Given the description of an element on the screen output the (x, y) to click on. 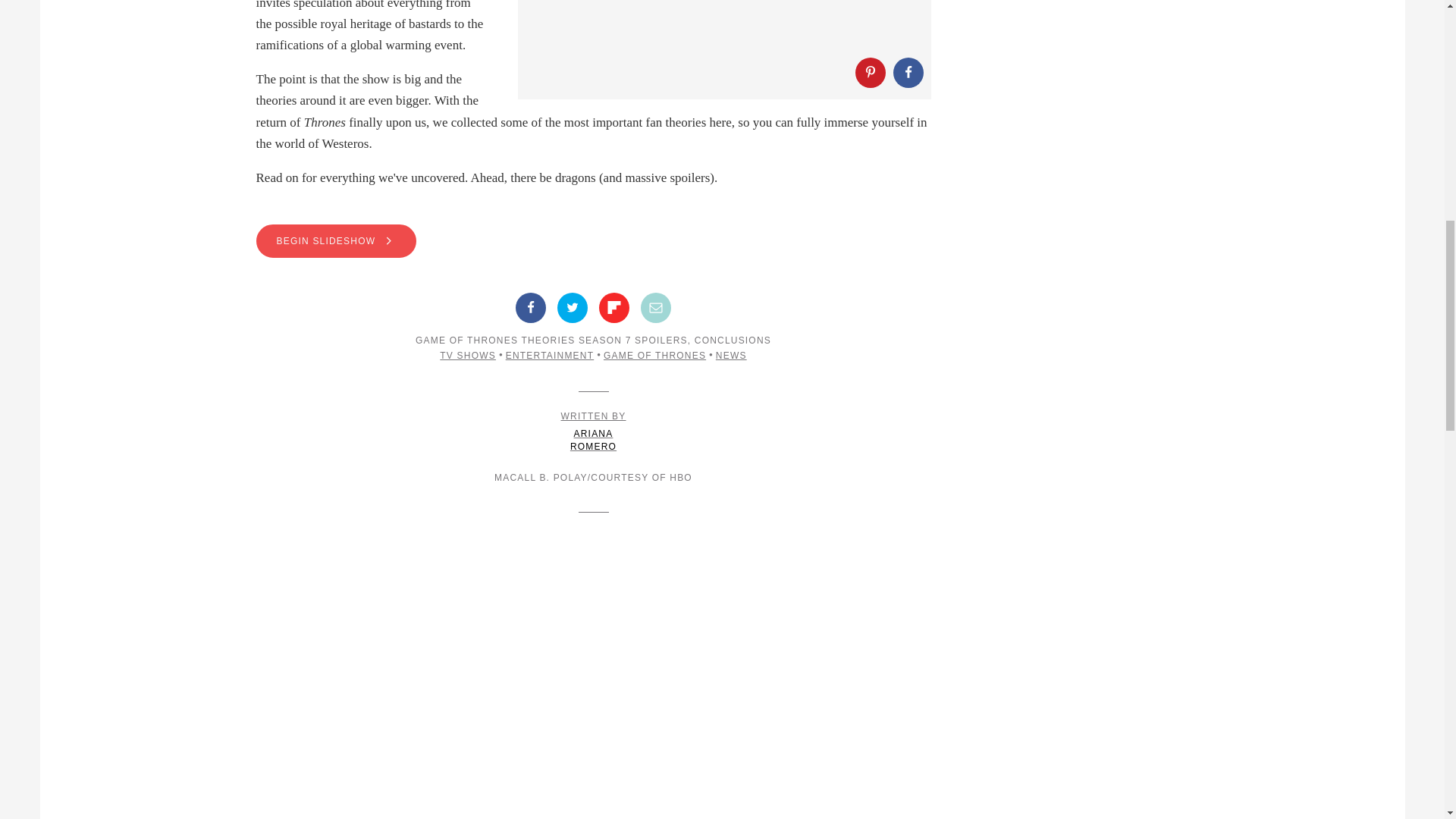
NEWS (731, 355)
Share on Flipboard (613, 307)
BEGIN SLIDESHOW (593, 240)
TV SHOWS (467, 355)
Share by Email (655, 307)
BEGIN SLIDESHOW (336, 240)
ENTERTAINMENT (549, 355)
Share on Twitter (572, 307)
GAME OF THRONES (655, 355)
Share on Pinterest (594, 431)
